Given the description of an element on the screen output the (x, y) to click on. 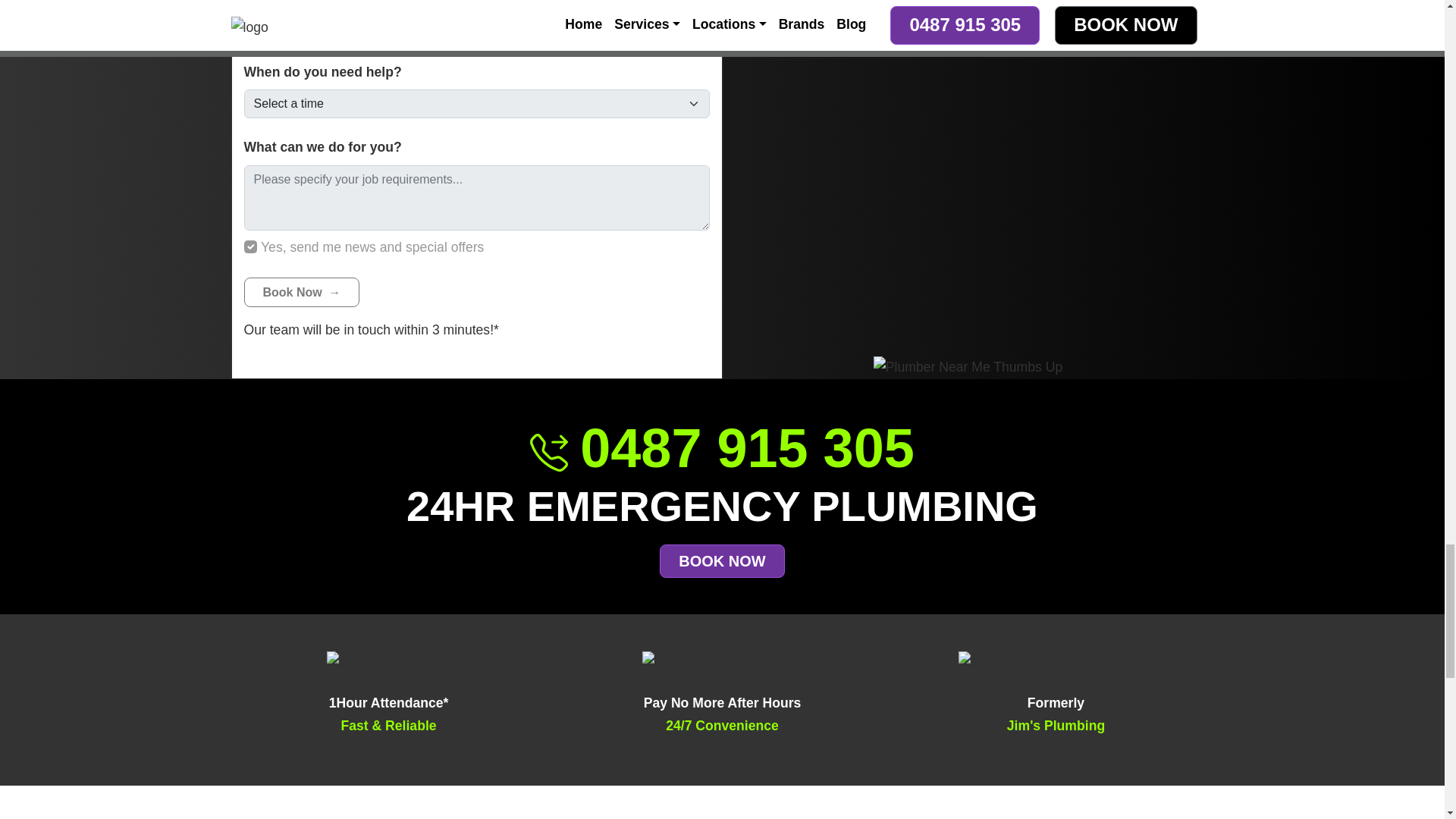
0487 915 305 (721, 447)
Yes (250, 246)
Book Now (301, 292)
BOOK NOW (721, 561)
